Given the description of an element on the screen output the (x, y) to click on. 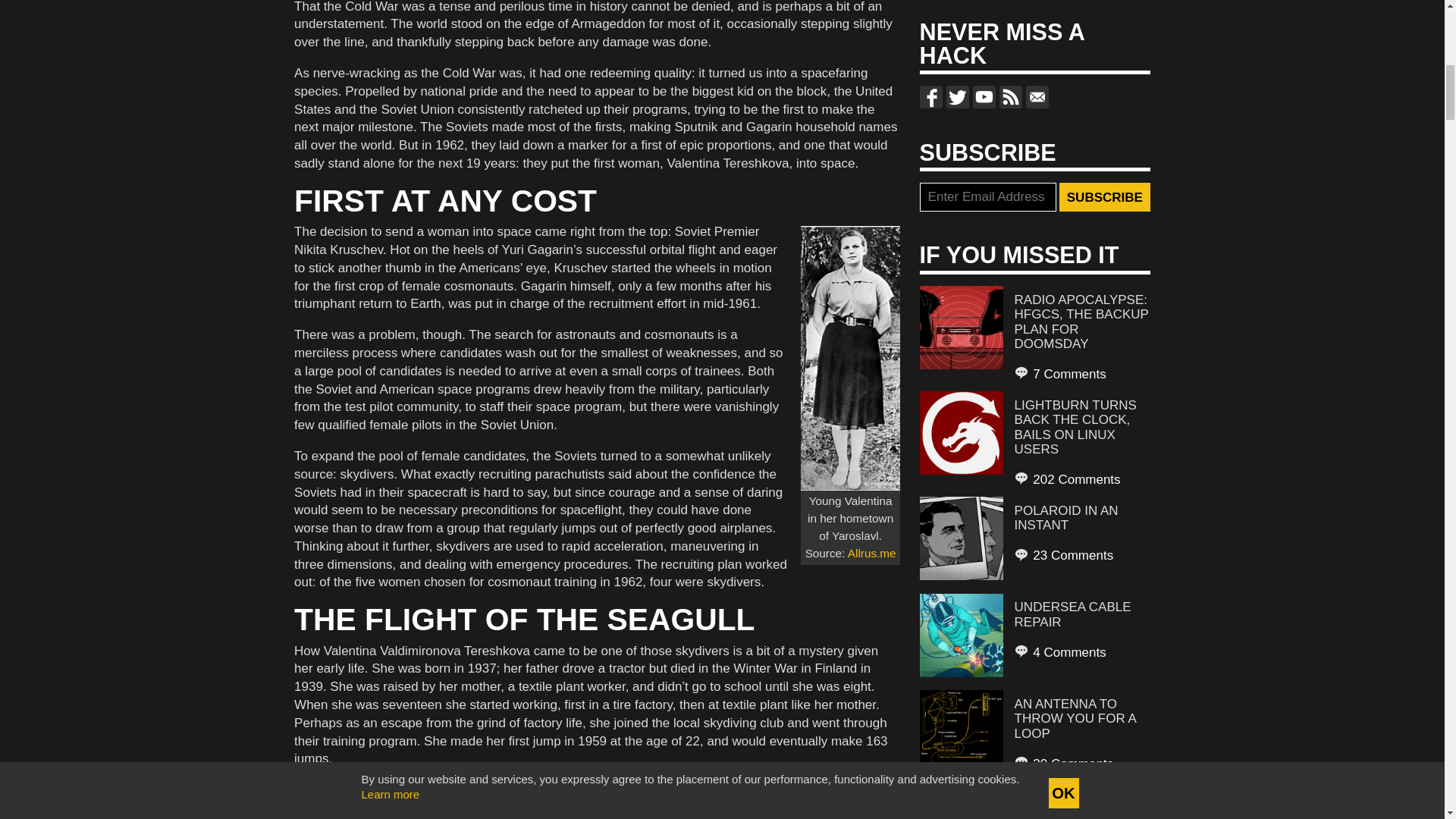
Subscribe (1104, 196)
Allrus.me (871, 553)
